Given the description of an element on the screen output the (x, y) to click on. 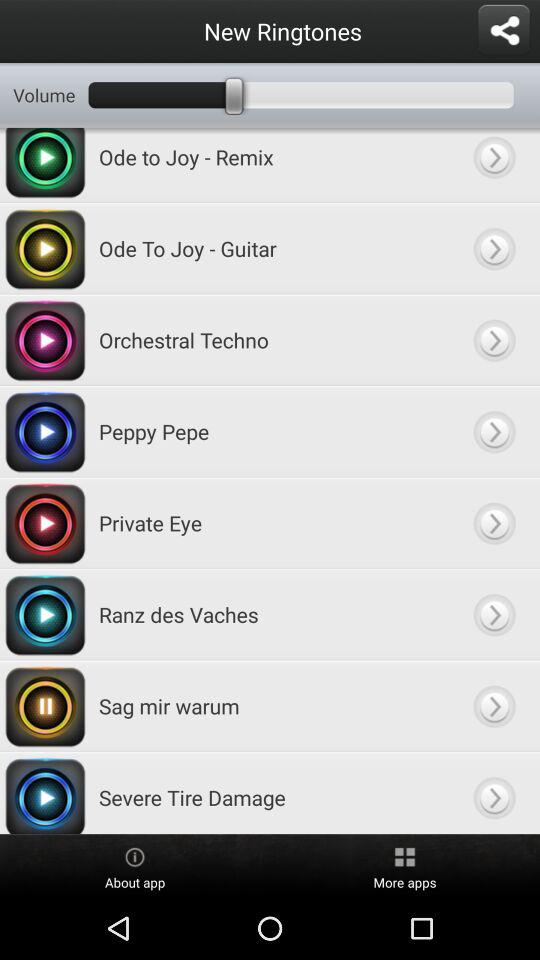
expand item menu (494, 431)
